Given the description of an element on the screen output the (x, y) to click on. 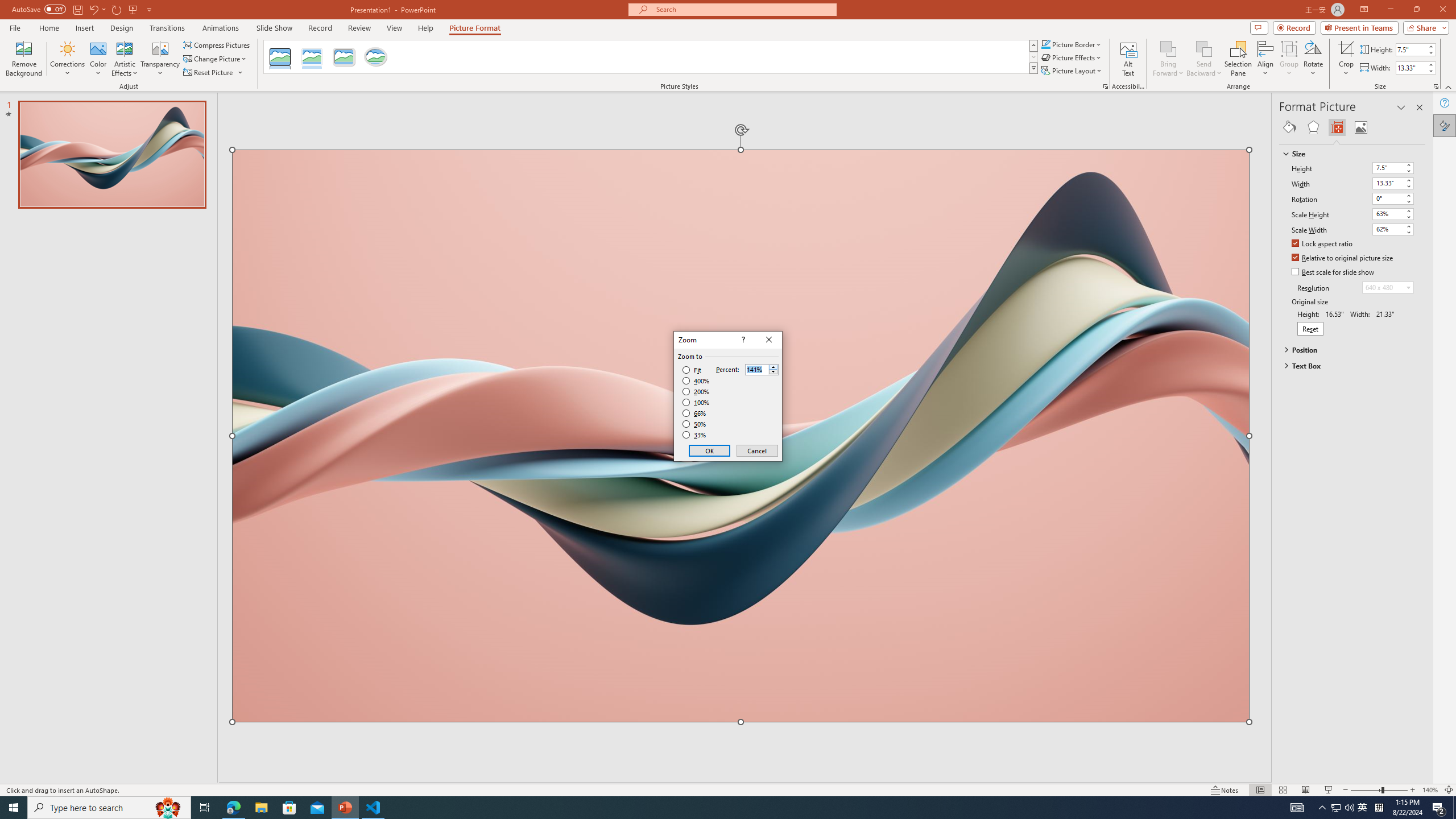
Height (1388, 167)
Relative to original picture size (1342, 258)
Shape Width (1410, 67)
Class: NetUIScrollBar (1420, 460)
Crop (1345, 58)
Metal Oval (375, 56)
Send Backward (1204, 58)
